Given the description of an element on the screen output the (x, y) to click on. 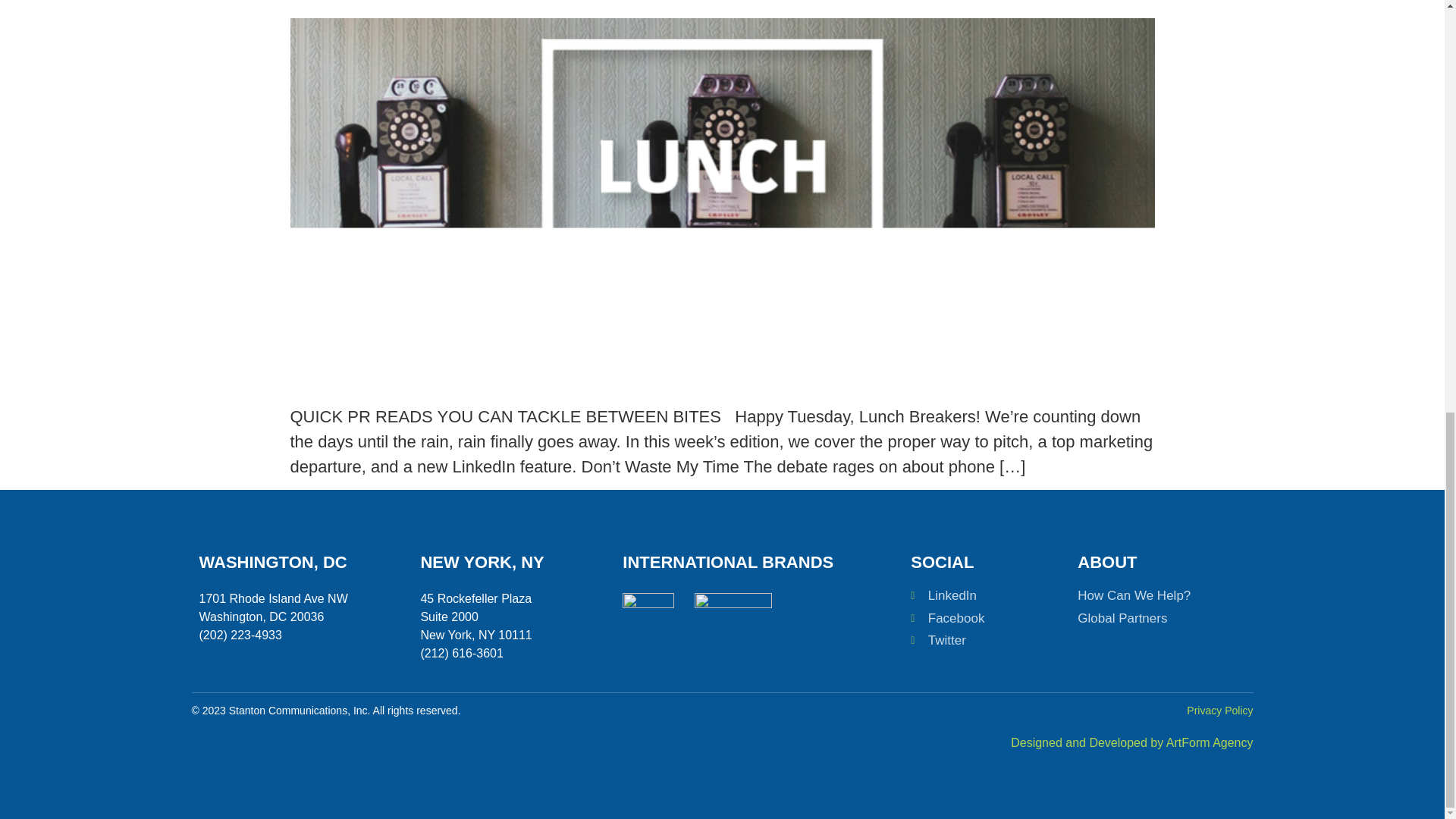
Global Partners (1150, 618)
Privacy Policy (1219, 710)
Designed and Developed by ArtForm Agency (1131, 742)
LinkedIn (986, 596)
How Can We Help? (1150, 596)
Facebook (986, 618)
Twitter (986, 640)
